Given the description of an element on the screen output the (x, y) to click on. 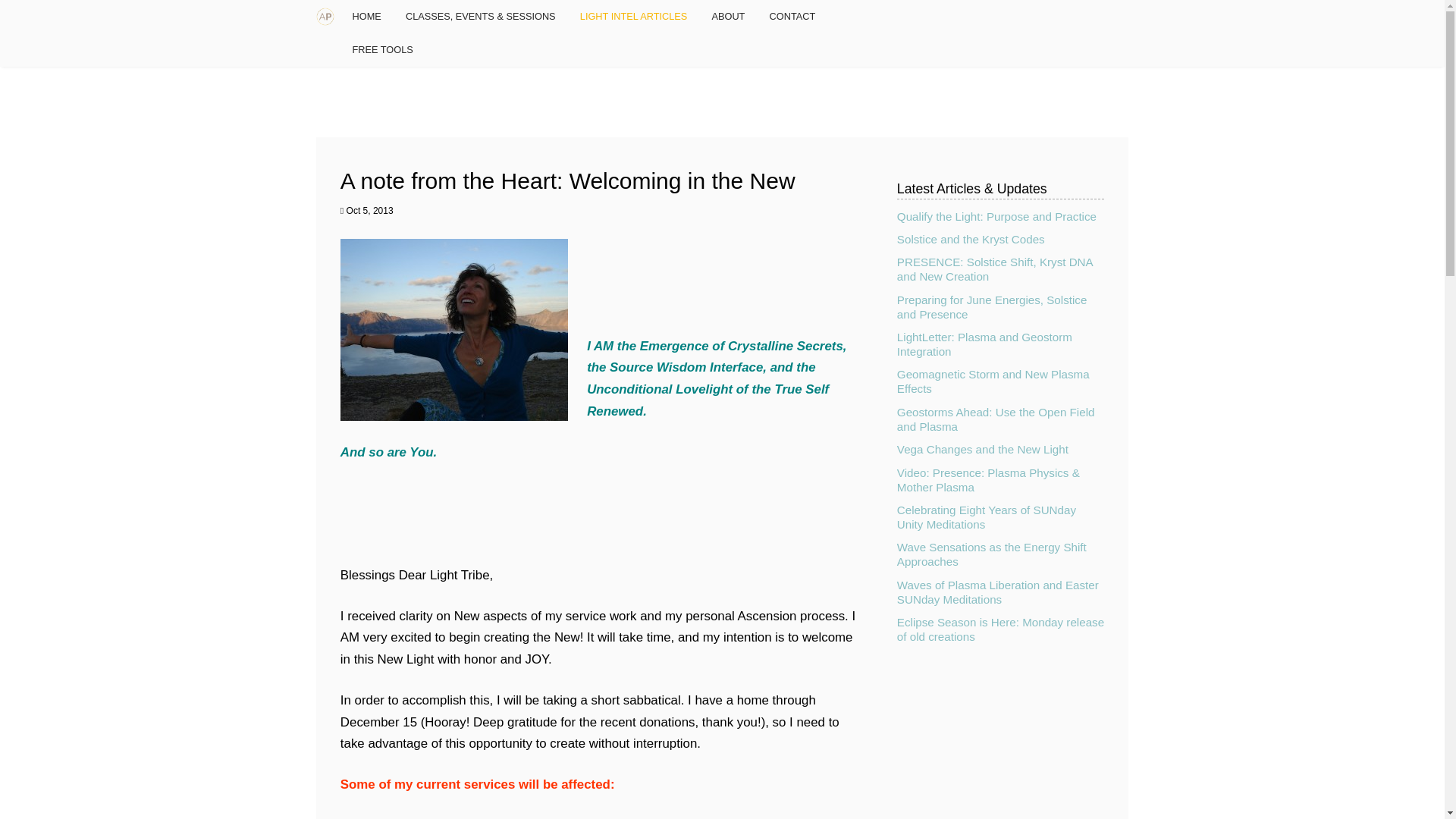
HOME (365, 16)
LIGHT INTEL ARTICLES (633, 16)
Solstice and the Kryst Codes (970, 238)
Preparing for June Energies, Solstice and Presence (991, 307)
ABOUT (727, 16)
FREE TOOLS (381, 49)
Geomagnetic Storm and New Plasma Effects (992, 380)
LightLetter: Plasma and Geostorm Integration (983, 343)
Sandra Wlater, Ascension Guide (453, 329)
CONTACT (792, 16)
Qualify the Light: Purpose and Practice (996, 215)
PRESENCE: Solstice Shift, Kryst DNA and New Creation (994, 268)
Geostorms Ahead: Use the Open Field and Plasma (995, 419)
